Given the description of an element on the screen output the (x, y) to click on. 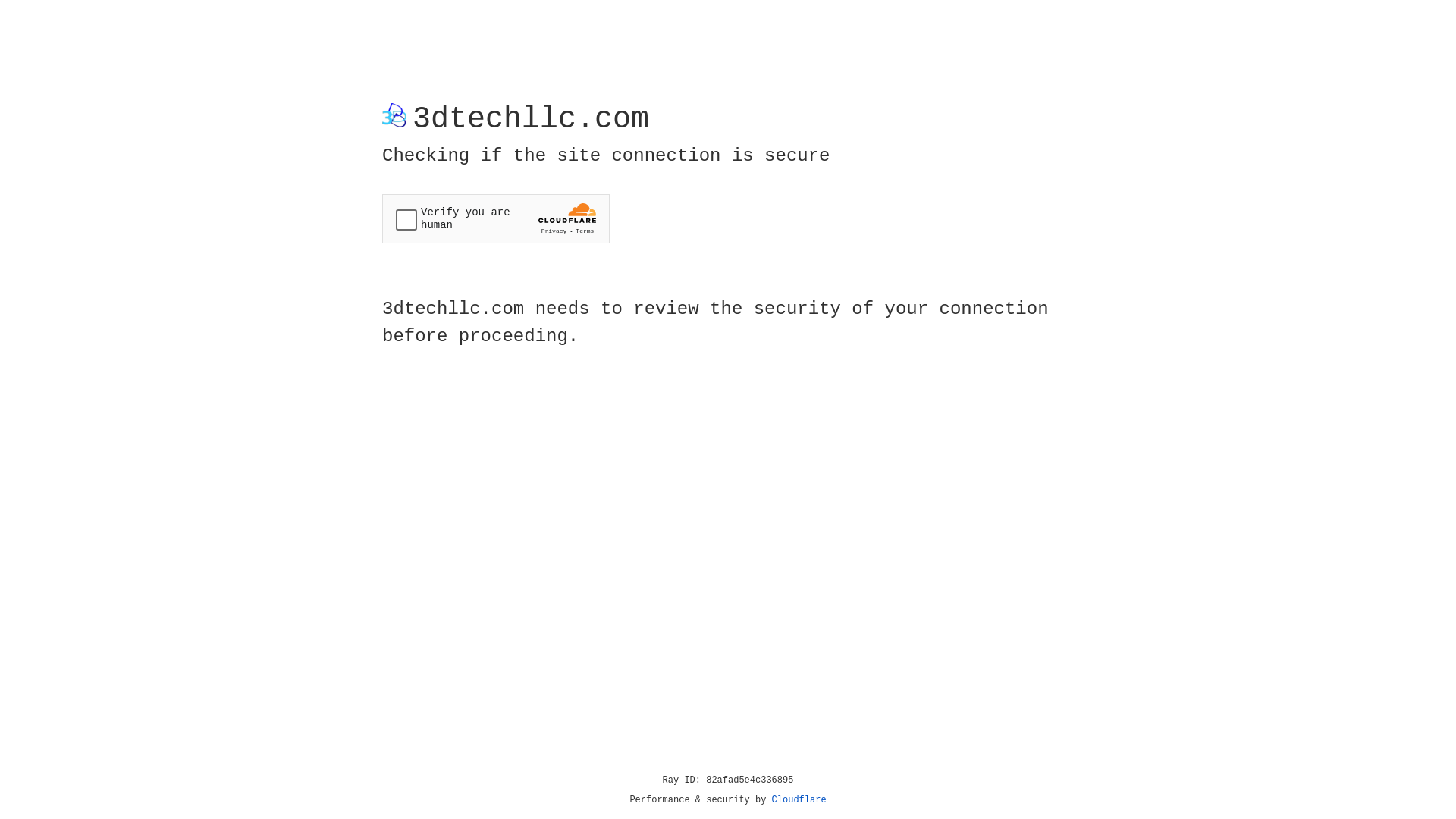
Widget containing a Cloudflare security challenge Element type: hover (495, 218)
Cloudflare Element type: text (798, 799)
